Given the description of an element on the screen output the (x, y) to click on. 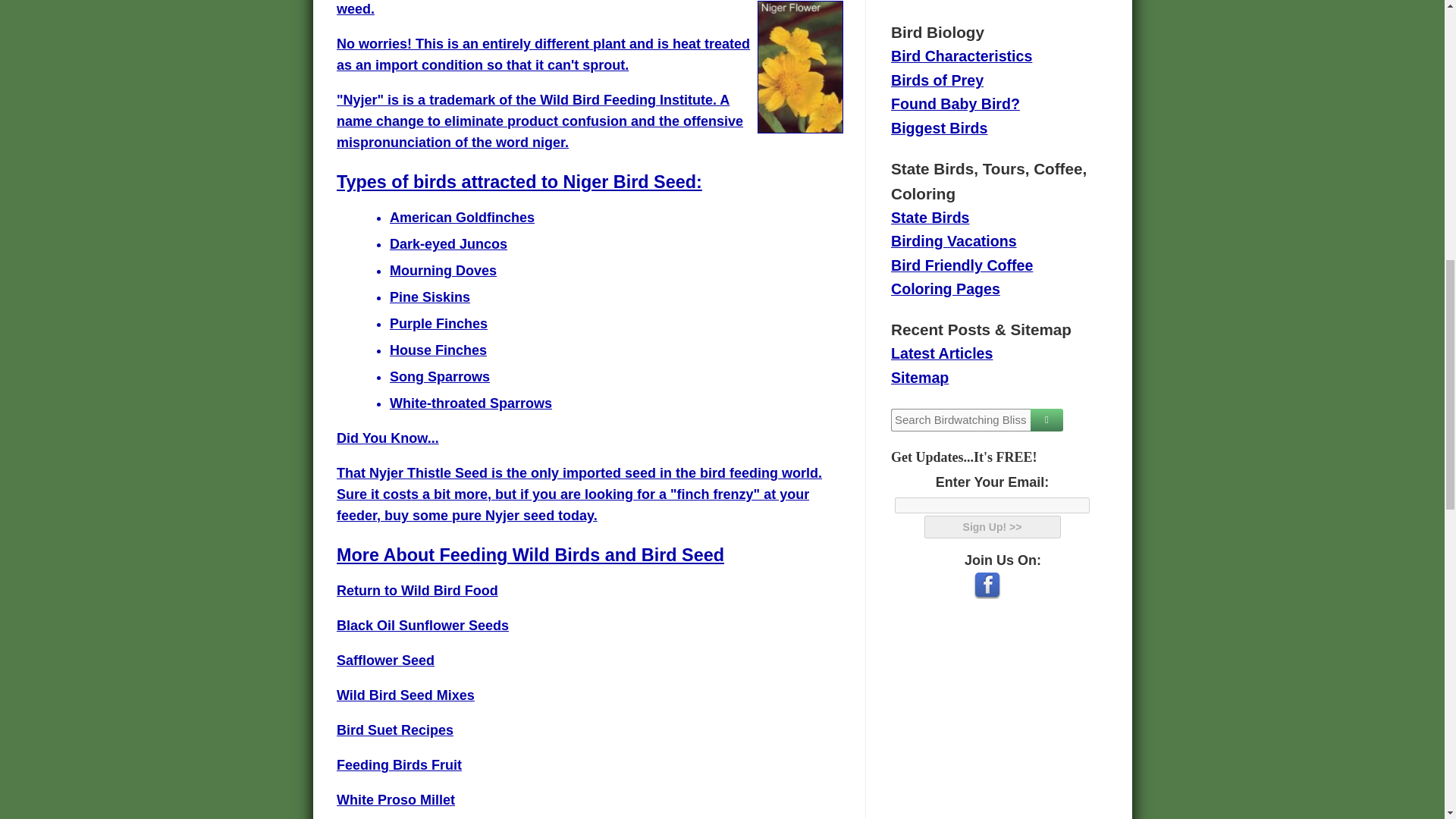
Bird Suet Recipes (394, 729)
Feeding Birds Fruit (398, 765)
Black Oil Sunflower Seeds (422, 625)
Safflower Seed (384, 660)
White Proso Millet (395, 799)
Wild Bird Seed Mixes (405, 694)
weed. (355, 8)
Return to Wild Bird Food (416, 590)
